Given the description of an element on the screen output the (x, y) to click on. 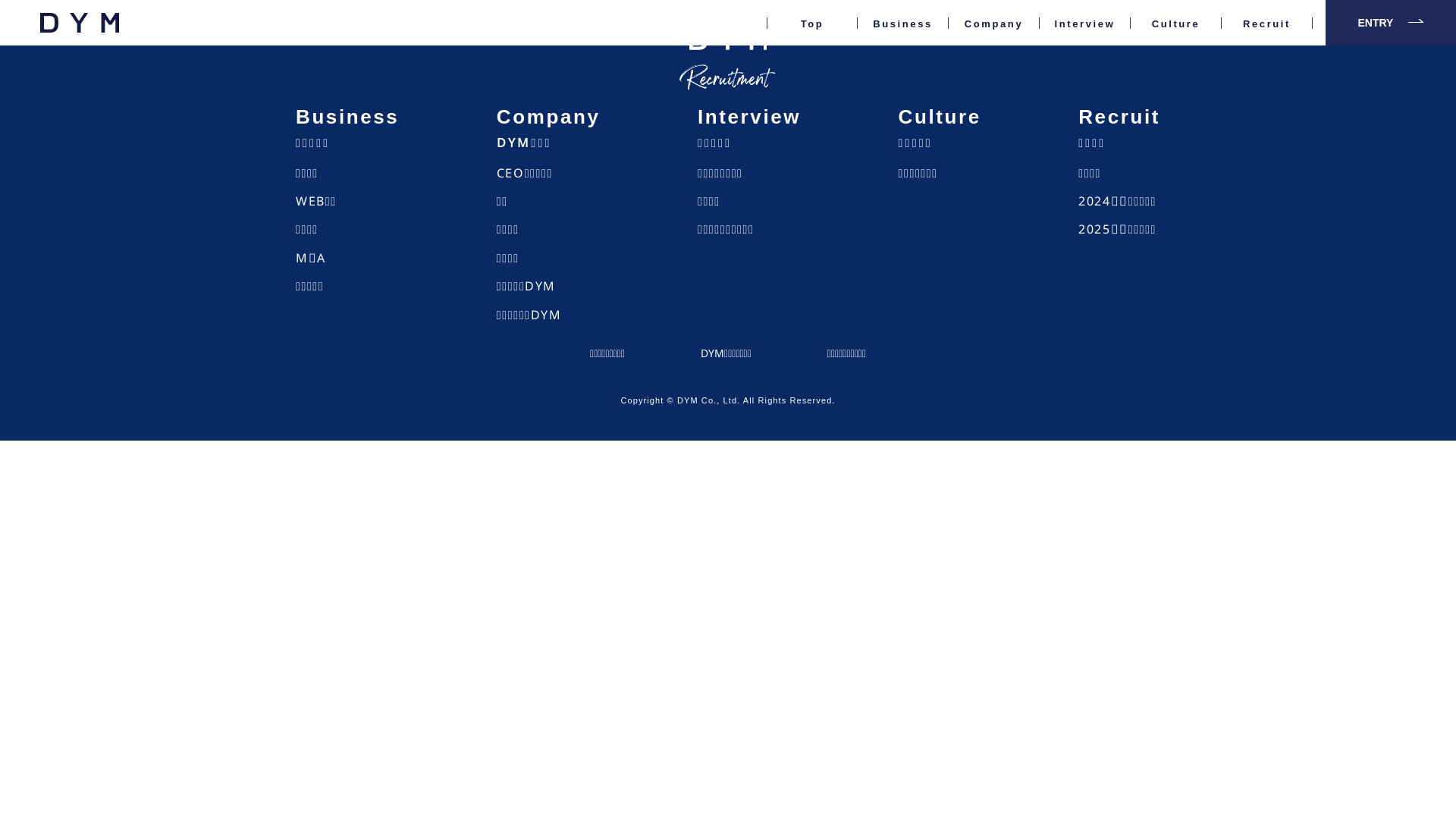
Top Element type: text (811, 39)
